Given the description of an element on the screen output the (x, y) to click on. 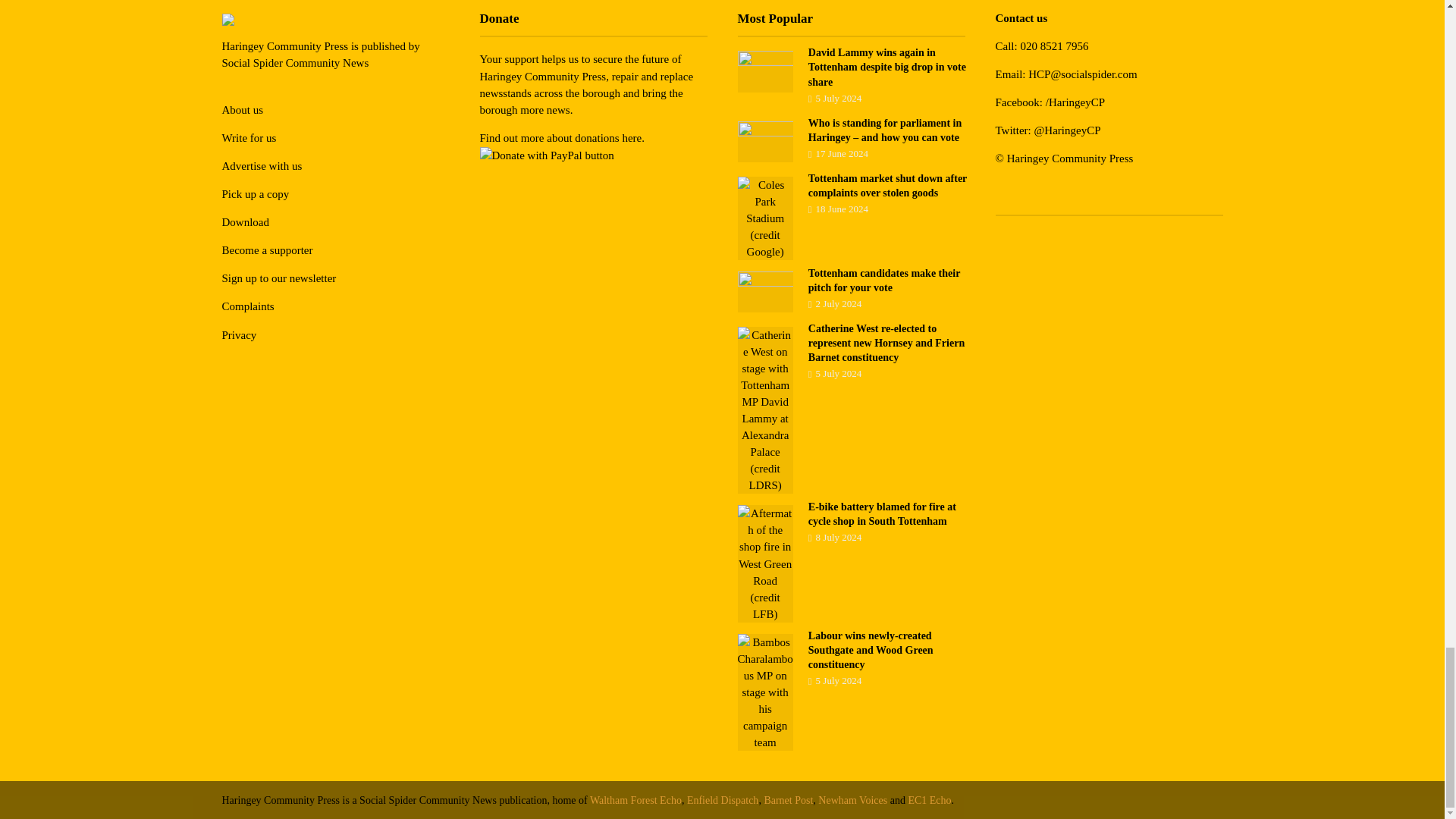
Tottenham candidates make their pitch for your vote (764, 291)
PayPal - The safer, easier way to pay online! (545, 155)
